Given the description of an element on the screen output the (x, y) to click on. 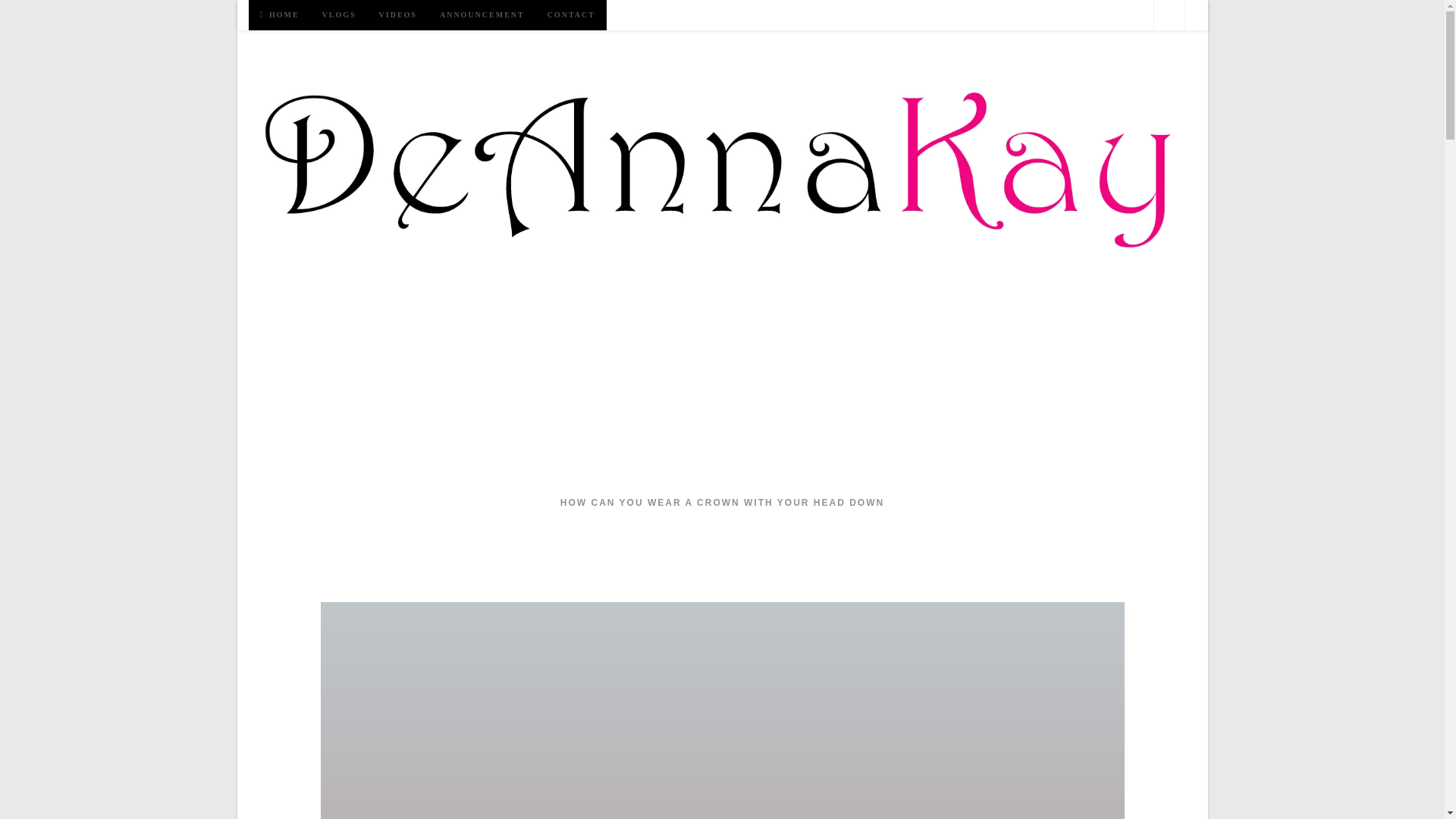
VLOGS (339, 15)
ANNOUNCEMENT (481, 15)
VIDEOS (398, 15)
CONTACT (571, 15)
HOME (279, 15)
